Given the description of an element on the screen output the (x, y) to click on. 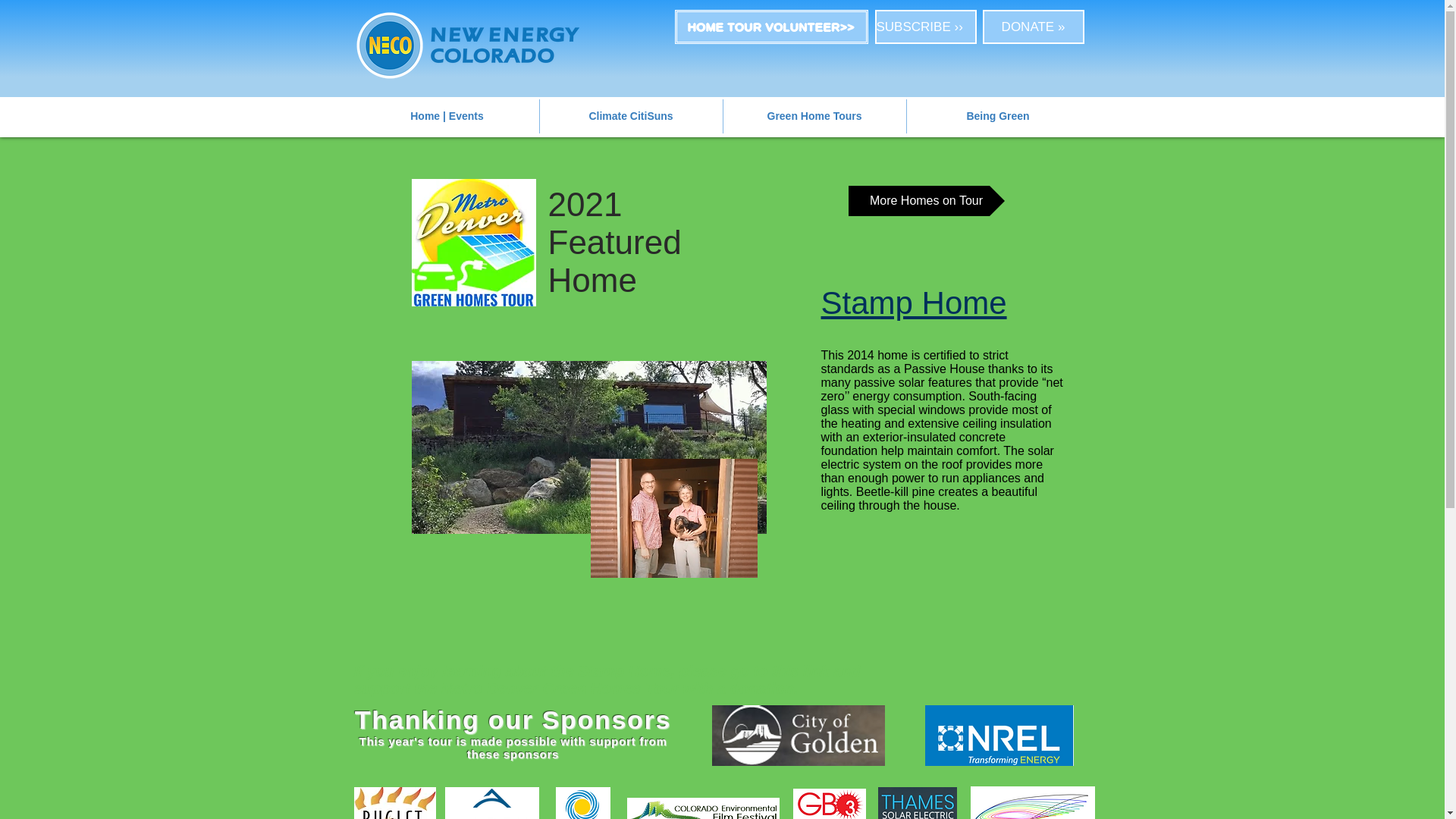
Climate CitiSuns (631, 116)
More Homes on Tour (925, 200)
Being Green (998, 116)
New Energy Colorado (466, 45)
Stamp Home (913, 303)
Green Home Tours (814, 116)
